Given the description of an element on the screen output the (x, y) to click on. 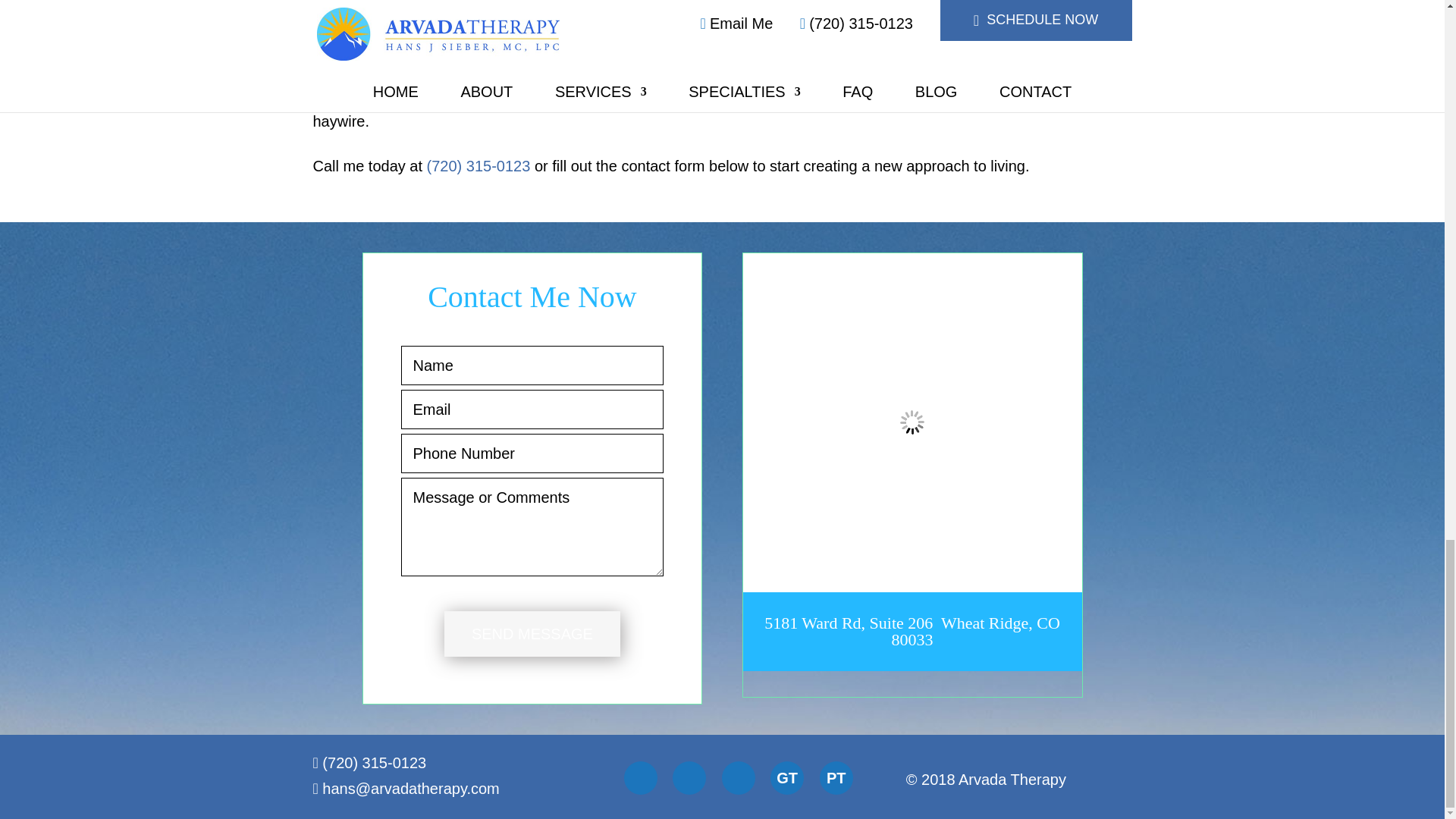
SEND MESSAGE (532, 633)
GT (786, 777)
PT (836, 777)
